Given the description of an element on the screen output the (x, y) to click on. 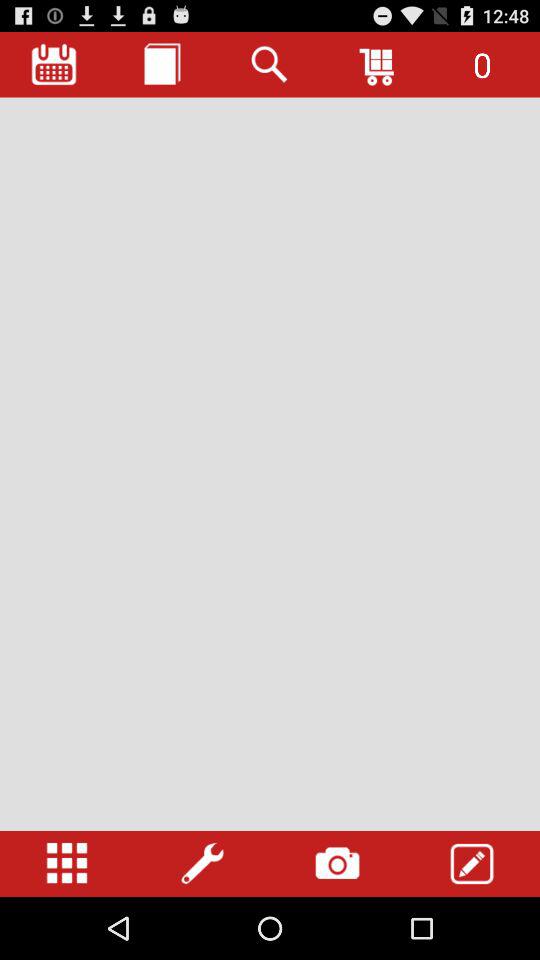
open search function (270, 64)
